Given the description of an element on the screen output the (x, y) to click on. 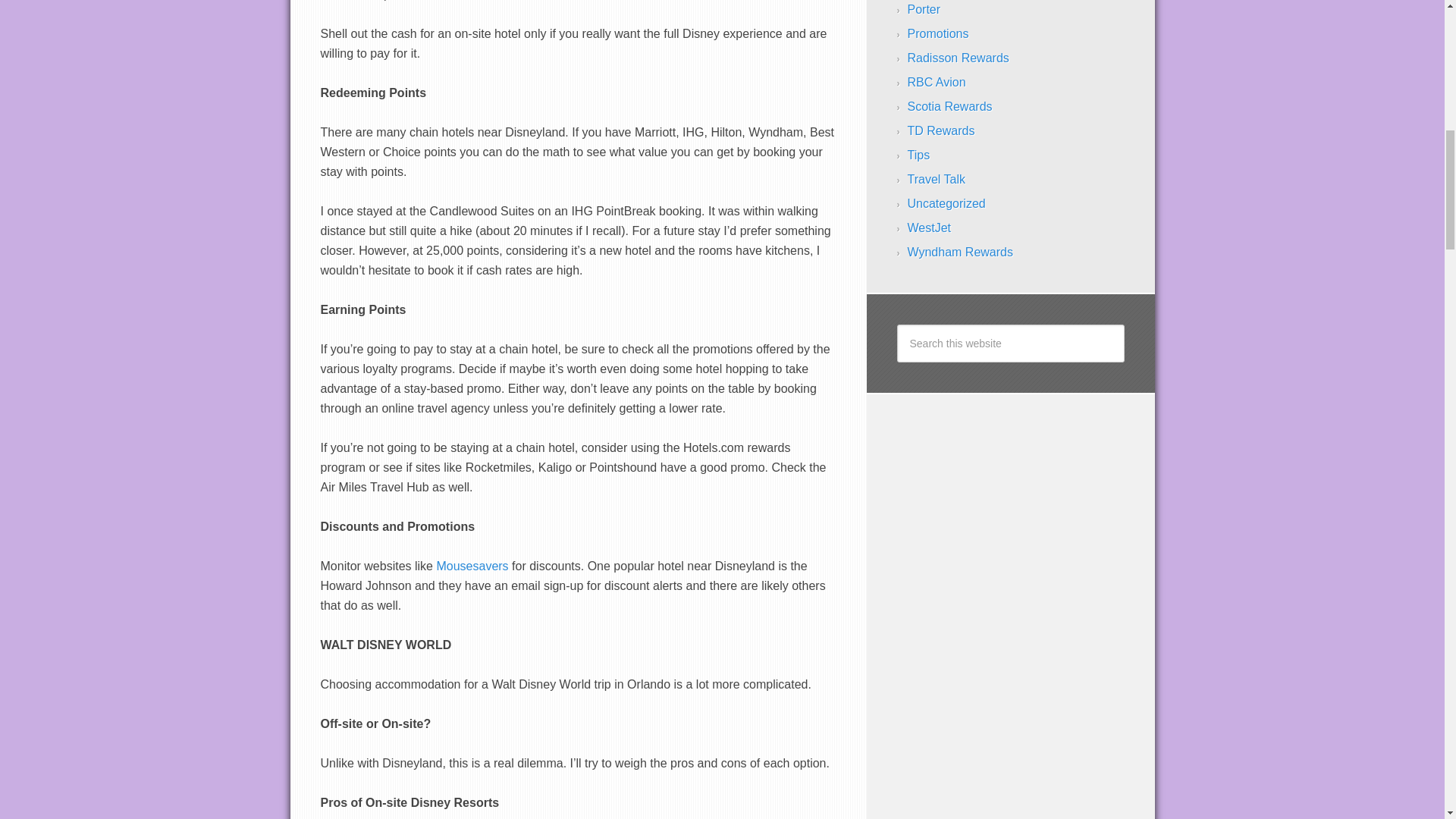
Scotia Rewards (949, 106)
TD Rewards (940, 130)
Travel Talk (935, 178)
Porter (923, 9)
Mousesavers (471, 565)
Promotions (937, 33)
Tips (918, 154)
RBC Avion (936, 82)
